Given the description of an element on the screen output the (x, y) to click on. 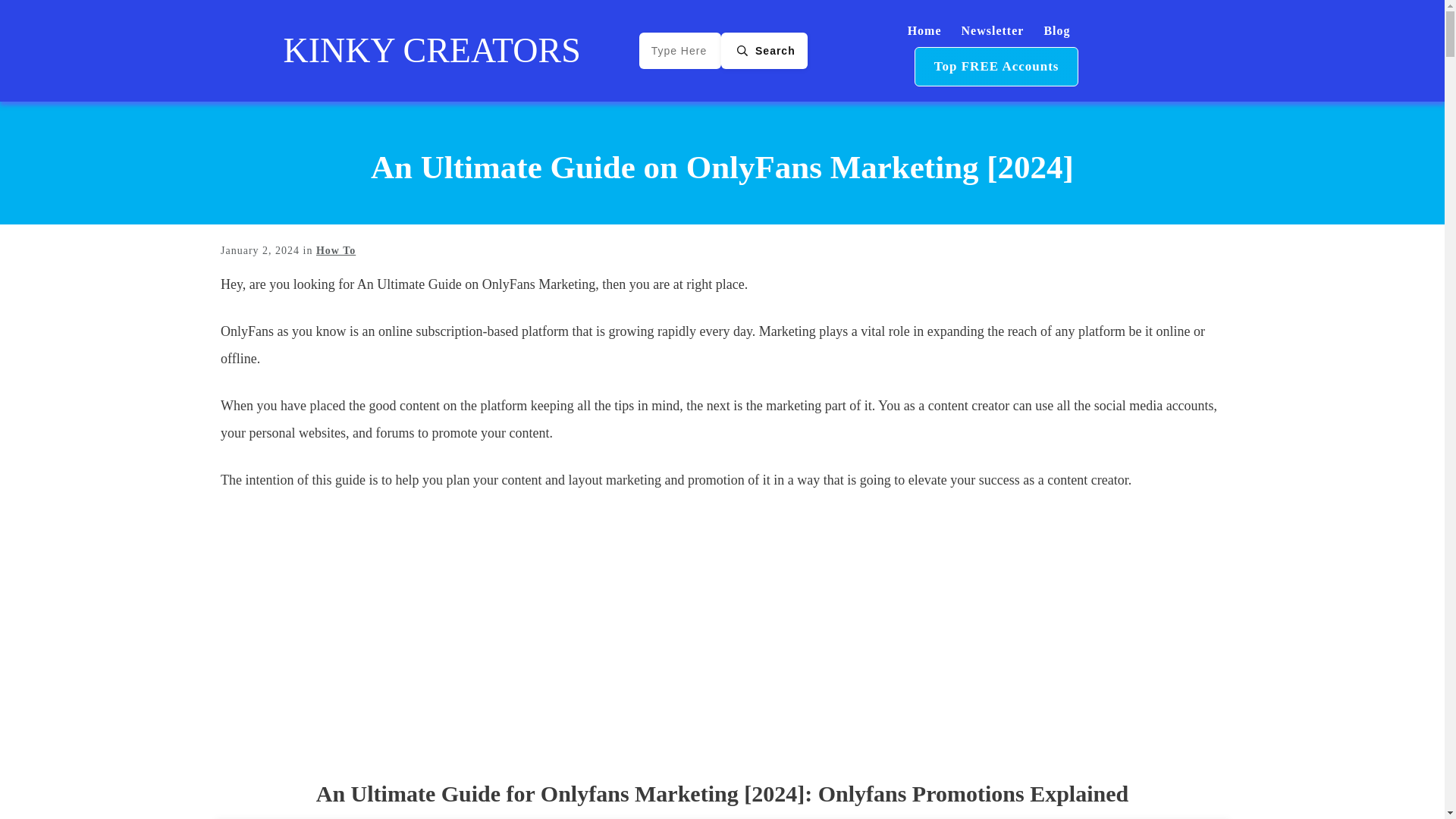
Top FREE Accounts (996, 66)
Blog (1056, 30)
Newsletter (992, 30)
Home (924, 30)
Menu Button (996, 66)
KINKY CREATORS (431, 50)
How To (335, 250)
How To (335, 250)
Search (764, 50)
Responsive Video (721, 637)
